Given the description of an element on the screen output the (x, y) to click on. 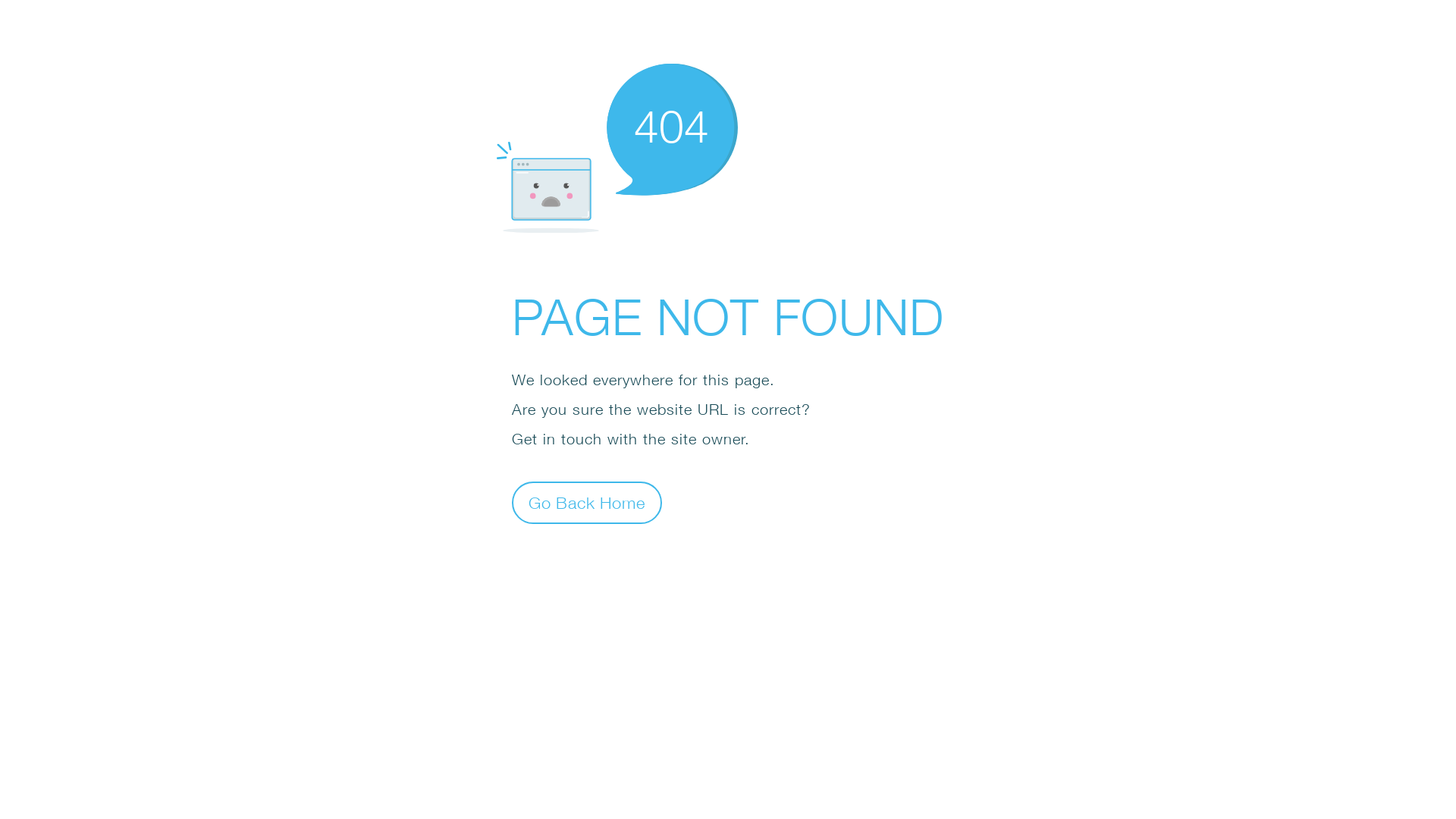
Go Back Home Element type: text (586, 502)
